Given the description of an element on the screen output the (x, y) to click on. 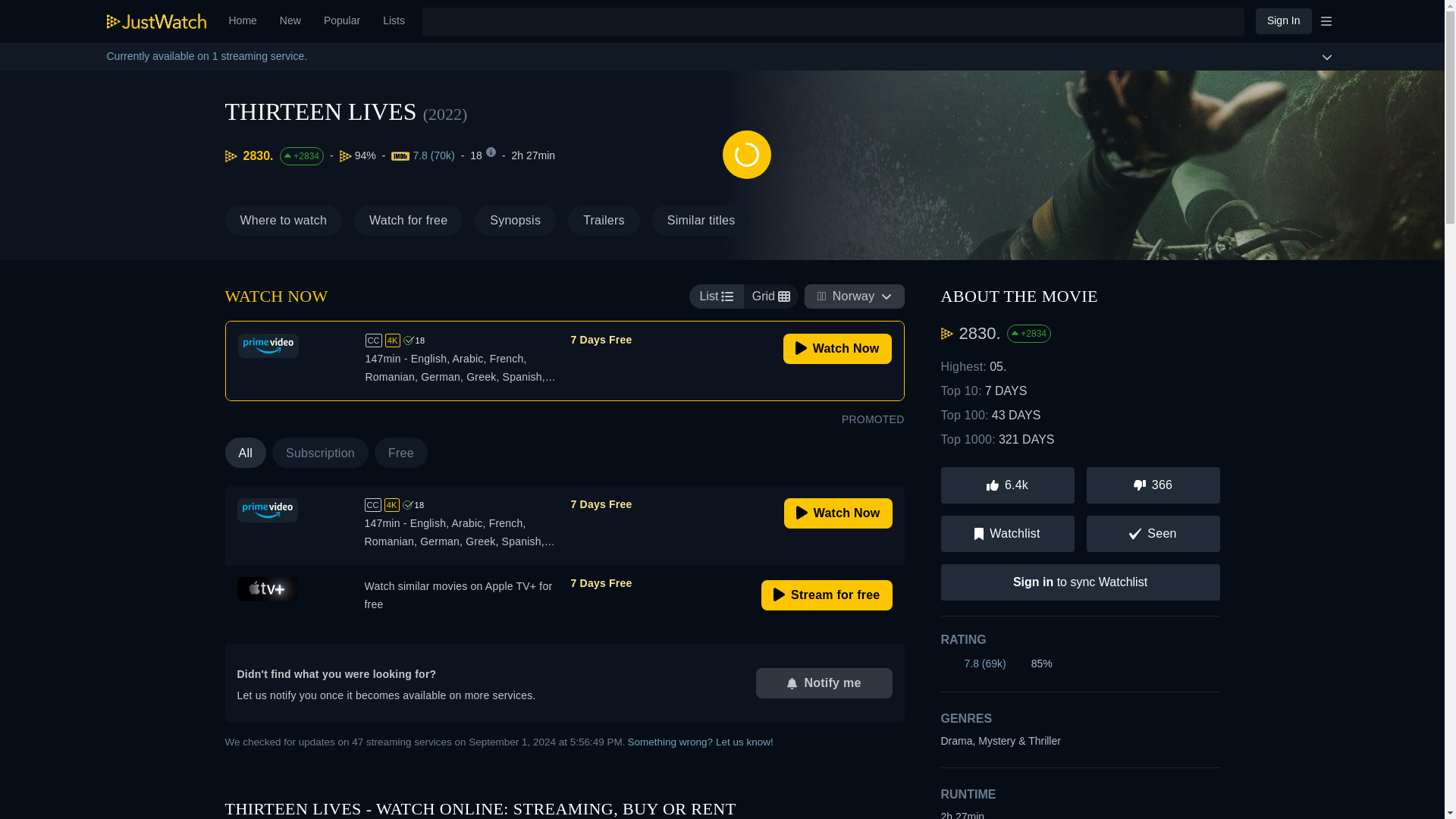
Where to watch (283, 220)
Sign In (1283, 20)
Similar titles (701, 220)
Synopsis (515, 220)
366 (1153, 484)
Trailers (603, 220)
Stream for free (826, 594)
Sign in to sync Watchlist (1080, 582)
Subscription (320, 452)
